Given the description of an element on the screen output the (x, y) to click on. 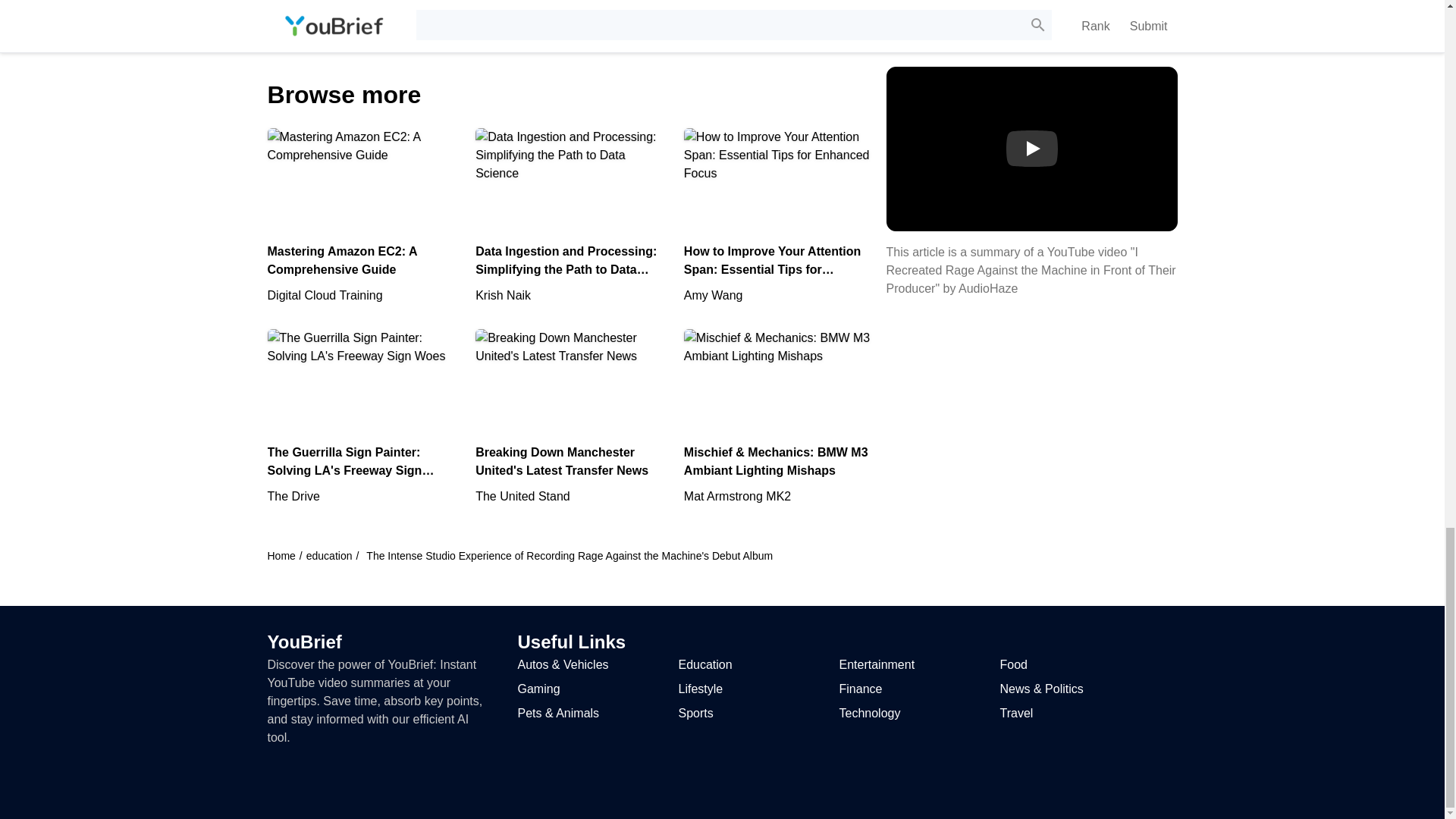
Food (1012, 664)
The Guerrilla Sign Painter: Solving LA's Freeway Sign Woes (362, 447)
Gaming (537, 688)
Finance (860, 688)
Travel (1015, 712)
Technology (868, 712)
